Given the description of an element on the screen output the (x, y) to click on. 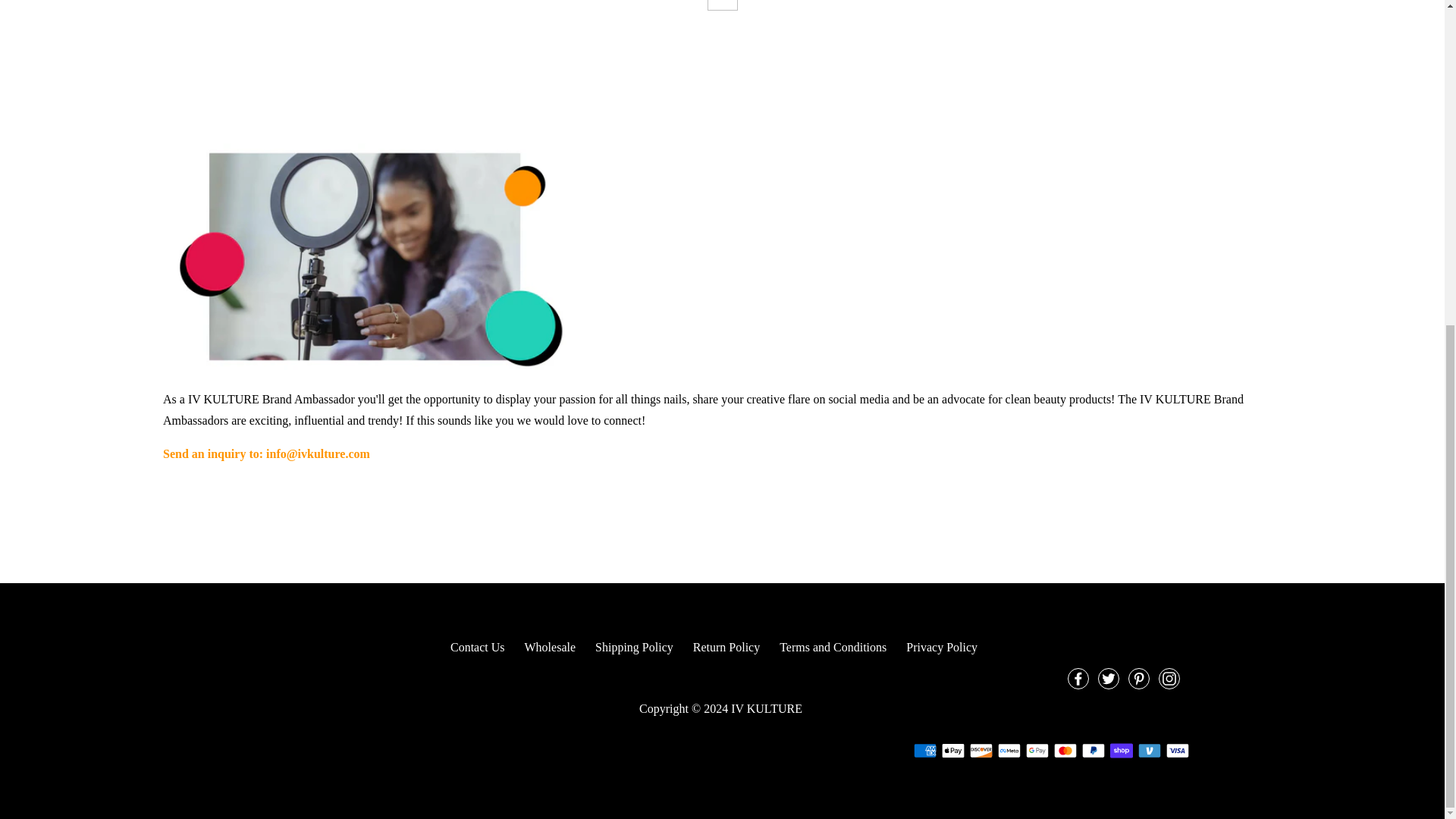
Wholesale (550, 646)
Apple Pay (952, 750)
Shipping Policy (633, 646)
Shop Pay (1120, 750)
Meta Pay (1008, 750)
Venmo (1148, 750)
Privacy Policy (940, 646)
PayPal (1092, 750)
Contact Us (477, 646)
Discover (980, 750)
Terms and Conditions (832, 646)
Return Policy (726, 646)
Google Pay (1036, 750)
American Express (924, 750)
Visa (1177, 750)
